Given the description of an element on the screen output the (x, y) to click on. 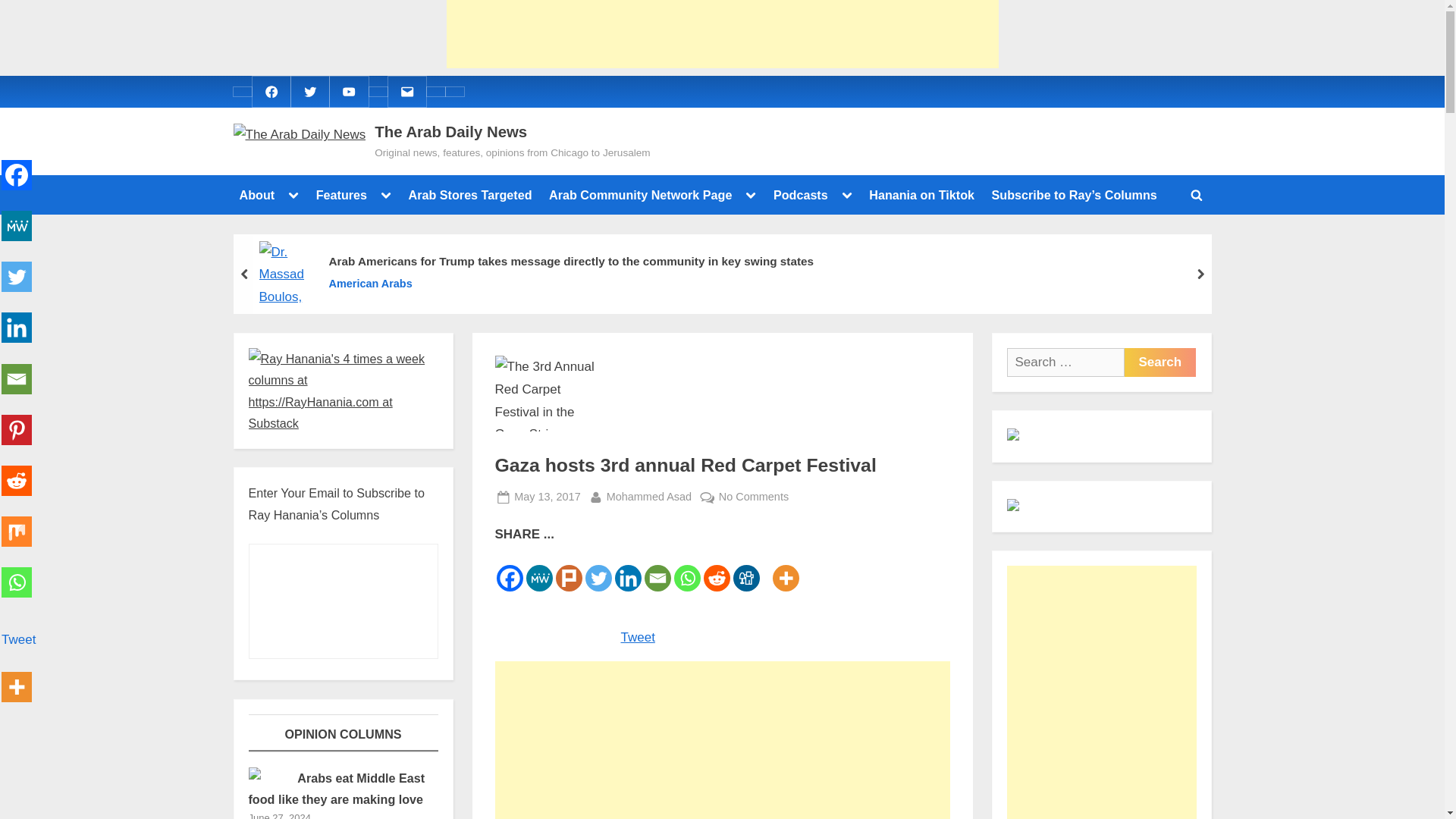
Email (406, 91)
Email (406, 91)
The Arab Daily News (450, 131)
About (256, 194)
Arab Community Network Page (640, 194)
Facebook (270, 91)
Features (341, 194)
Advertisement (721, 33)
Toggle sub-menu (385, 194)
Twitter (309, 91)
Search (1159, 362)
Toggle sub-menu (293, 194)
Toggle sub-menu (750, 194)
Arab Stores Targeted (470, 194)
Youtube (348, 91)
